Given the description of an element on the screen output the (x, y) to click on. 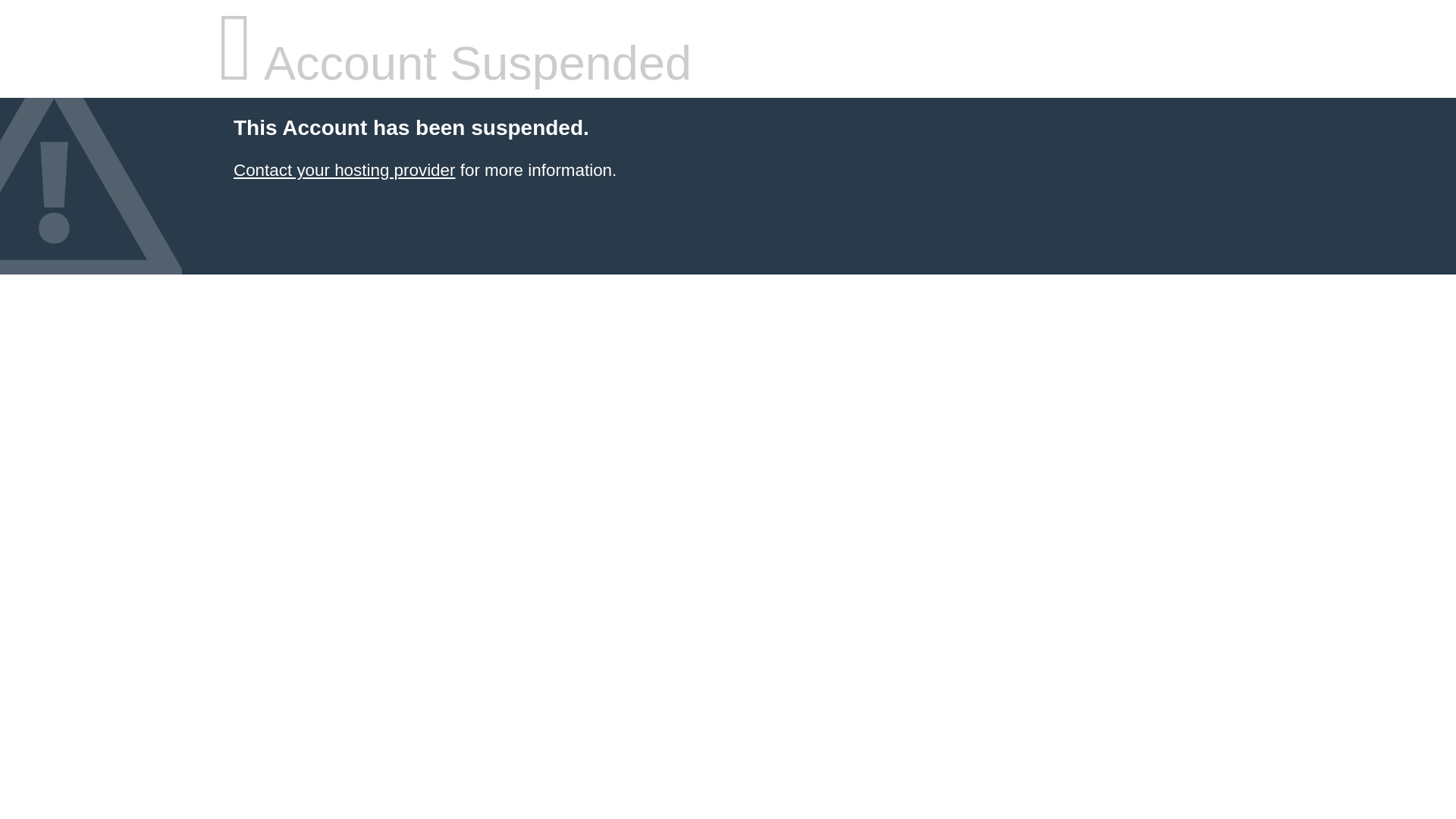
Contact your hosting provider (343, 169)
